Given the description of an element on the screen output the (x, y) to click on. 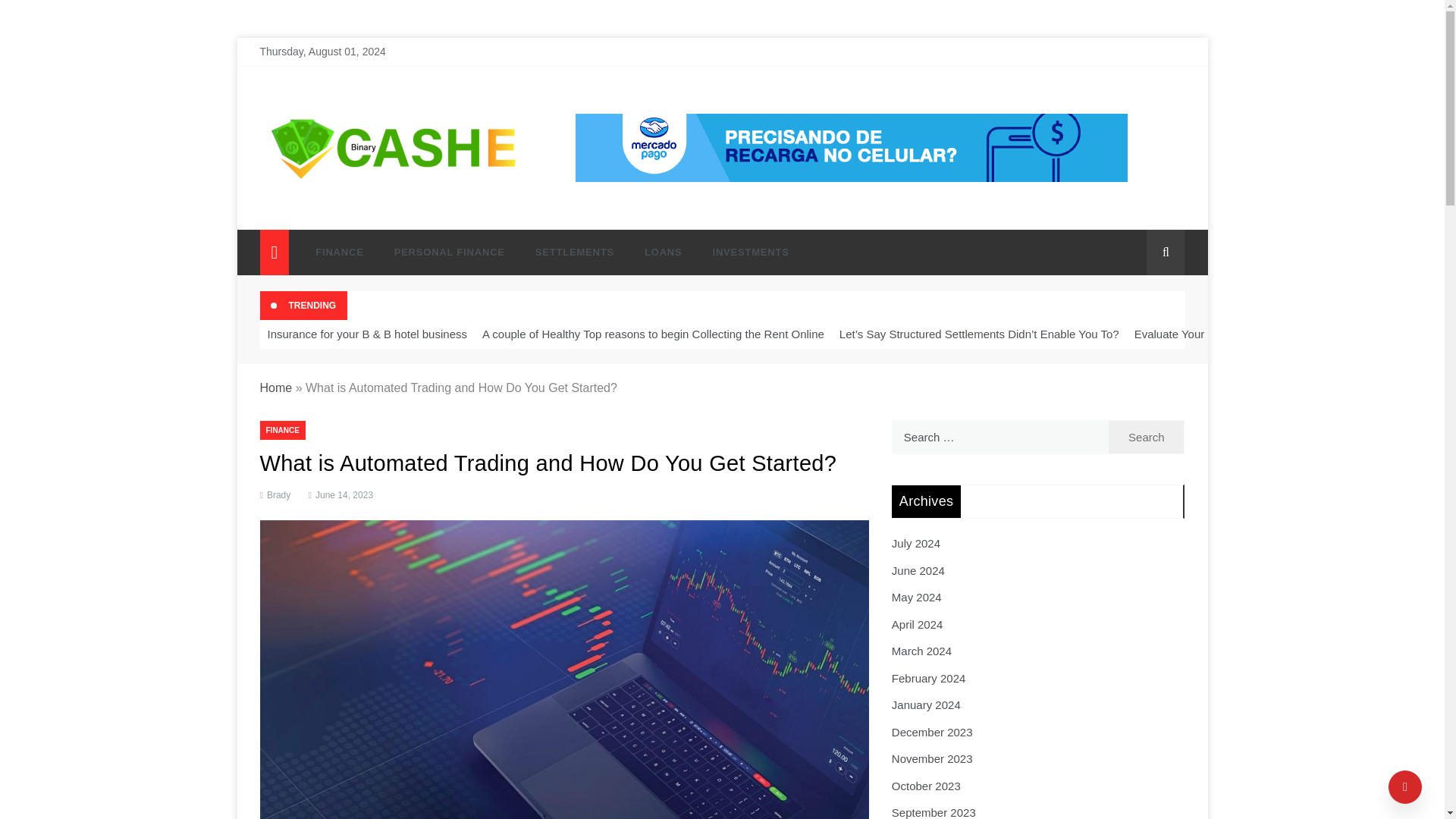
Brady (277, 494)
INVESTMENTS (743, 252)
Go to Top (1405, 786)
FINANCE (338, 252)
Evaluate Your Choices Regarding Self Managed Funds (1273, 334)
Search (1146, 437)
Search (1146, 437)
Binary Cashe (326, 210)
LOANS (662, 252)
Home (275, 387)
PERSONAL FINANCE (448, 252)
SETTLEMENTS (573, 252)
FINANCE (281, 429)
